Given the description of an element on the screen output the (x, y) to click on. 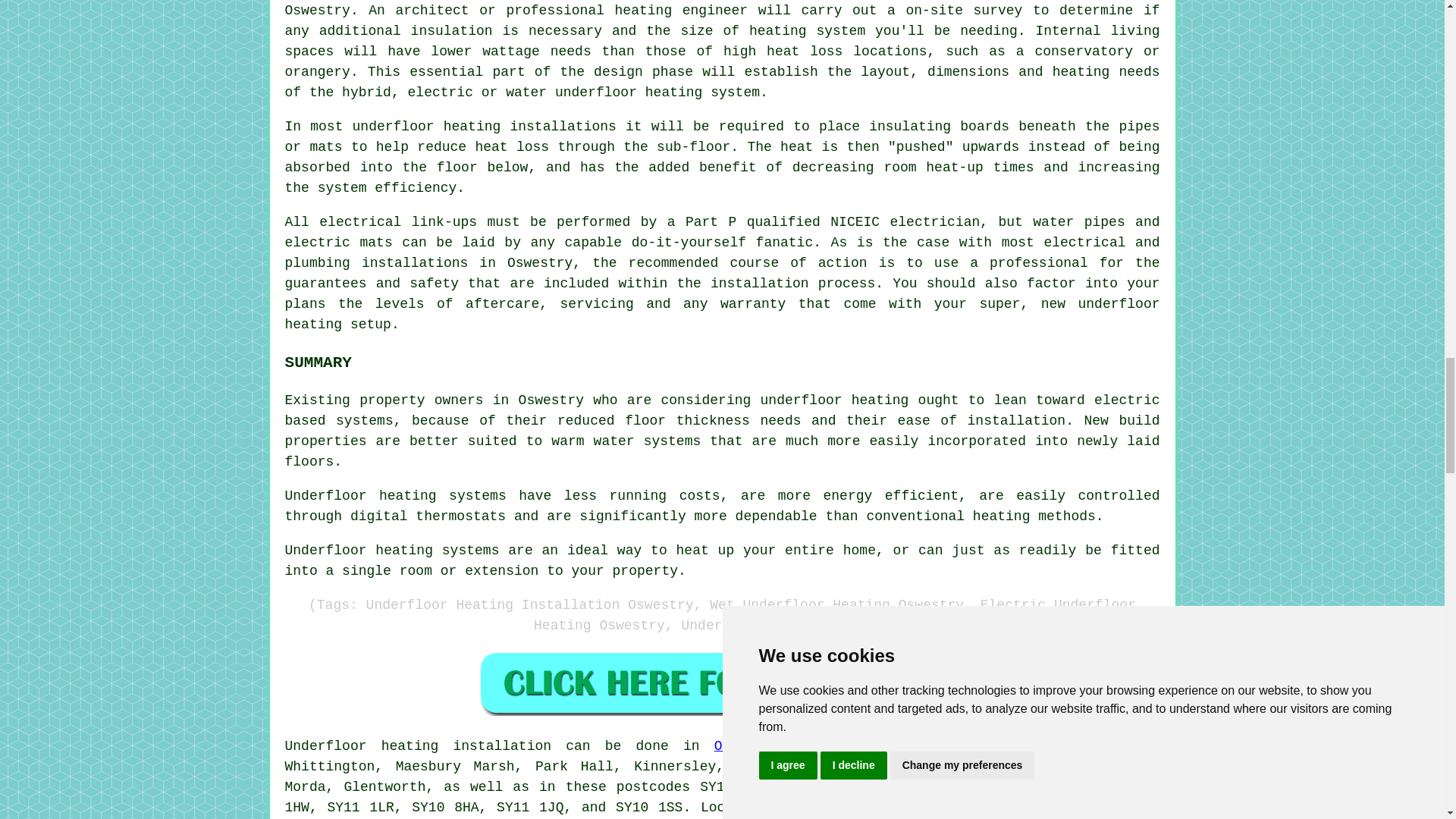
Book Underfloor Heating in Oswestry UK (722, 682)
underfloor heating companies (942, 807)
Underfloor heating installation (418, 745)
